Given the description of an element on the screen output the (x, y) to click on. 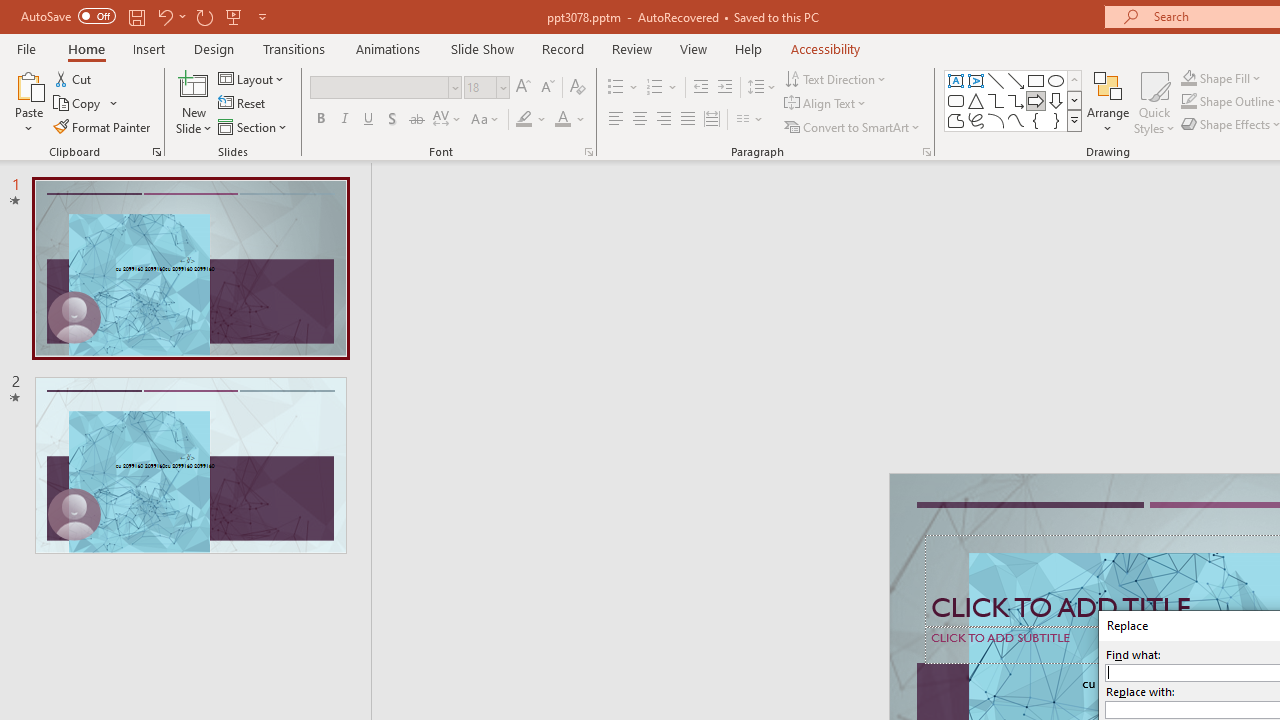
Reset (243, 103)
Freeform: Scribble (975, 120)
Font... (588, 151)
Arrange (1108, 102)
Right Brace (1055, 120)
Arrow: Down (1055, 100)
Align Text (826, 103)
Change Case (486, 119)
Section (254, 126)
